Given the description of an element on the screen output the (x, y) to click on. 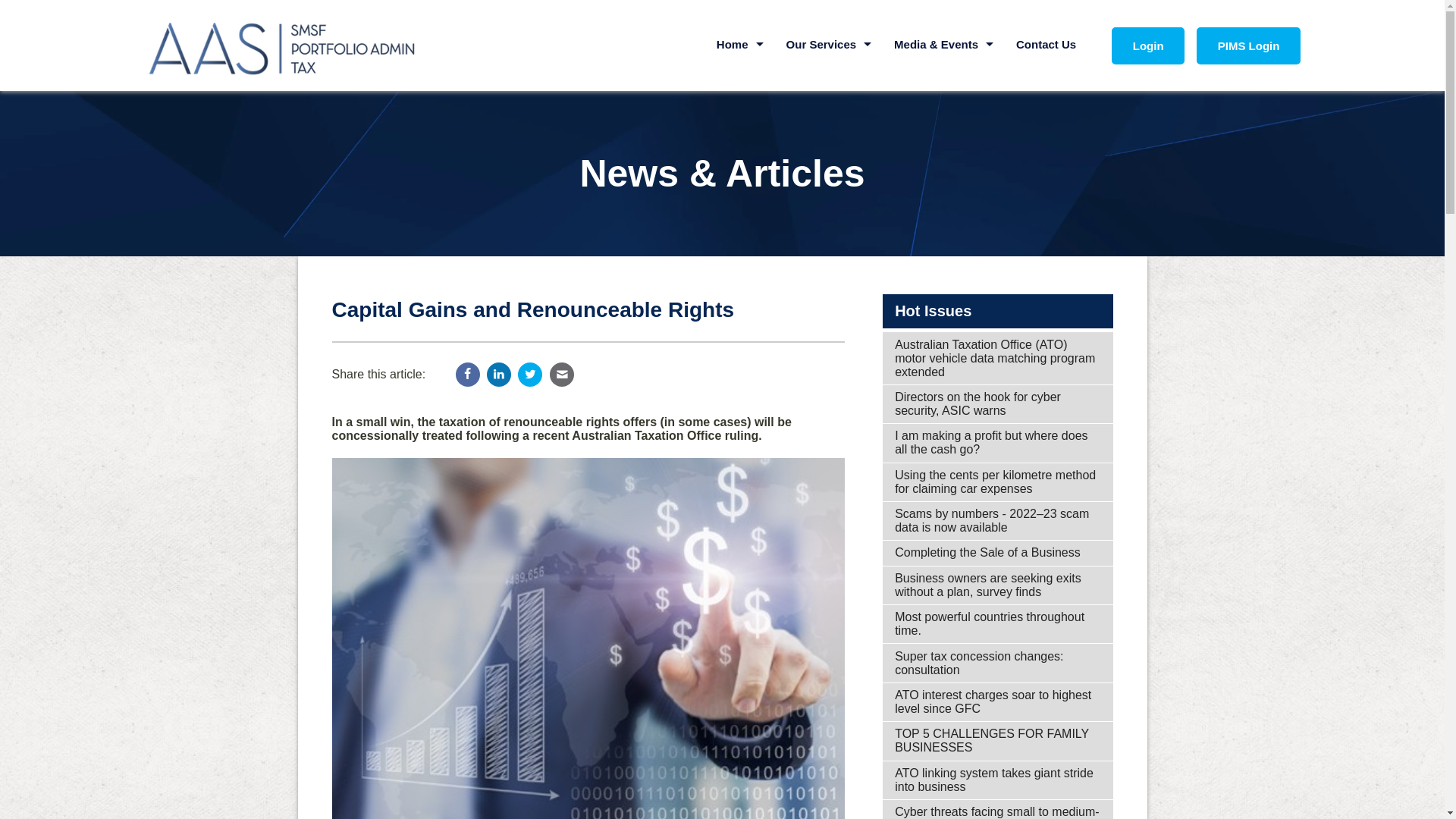
Media & Events Element type: text (943, 44)
Super tax concession changes: consultation Element type: text (997, 662)
Most powerful countries throughout time. Element type: text (997, 624)
Login Element type: text (1147, 45)
Entity Set Up Element type: text (829, 217)
Contact Us Element type: text (1045, 44)
TOP 5 CHALLENGES FOR FAMILY BUSINESSES Element type: text (997, 740)
SMSF Administration Element type: text (829, 77)
Completing the Sale of a Business Element type: text (997, 552)
Testimonials Element type: text (740, 147)
ATO linking system takes giant stride into business Element type: text (997, 780)
Upcoming Events Element type: text (943, 147)
Our Team Element type: text (740, 112)
Latest News Element type: text (943, 77)
Home Element type: text (740, 44)
I am making a profit but where does all the cash go? Element type: text (997, 442)
Tax & Accounting Element type: text (829, 147)
AAS Blog Element type: text (943, 112)
Directors on the hook for cyber security, ASIC warns Element type: text (997, 404)
Portfolio Administration Element type: text (829, 112)
PIMS Login Element type: text (1248, 45)
Corporate Secretarial Element type: text (829, 182)
ATO interest charges soar to highest level since GFC Element type: text (997, 702)
About Us Element type: text (740, 77)
Our Services Element type: text (829, 44)
